Given the description of an element on the screen output the (x, y) to click on. 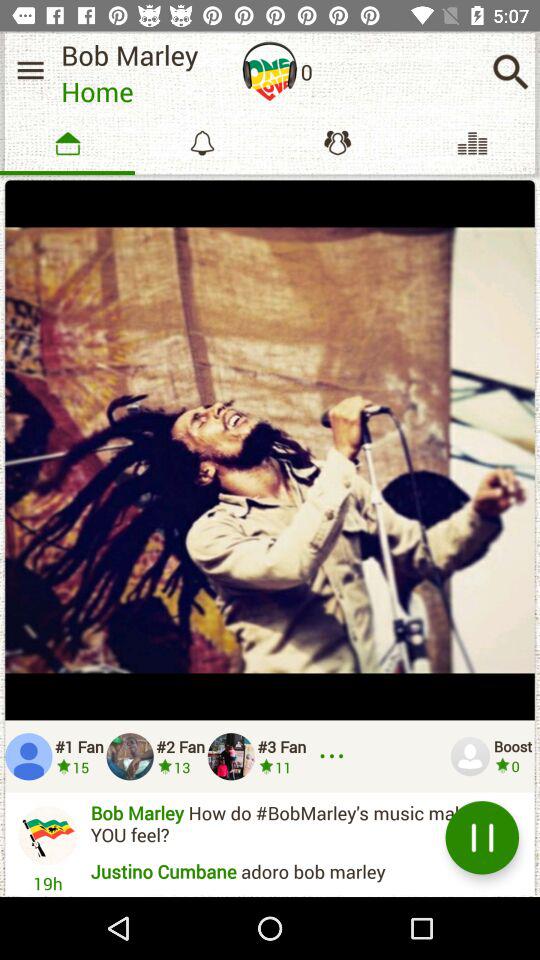
open the item to the left of the bob marley icon (30, 69)
